Given the description of an element on the screen output the (x, y) to click on. 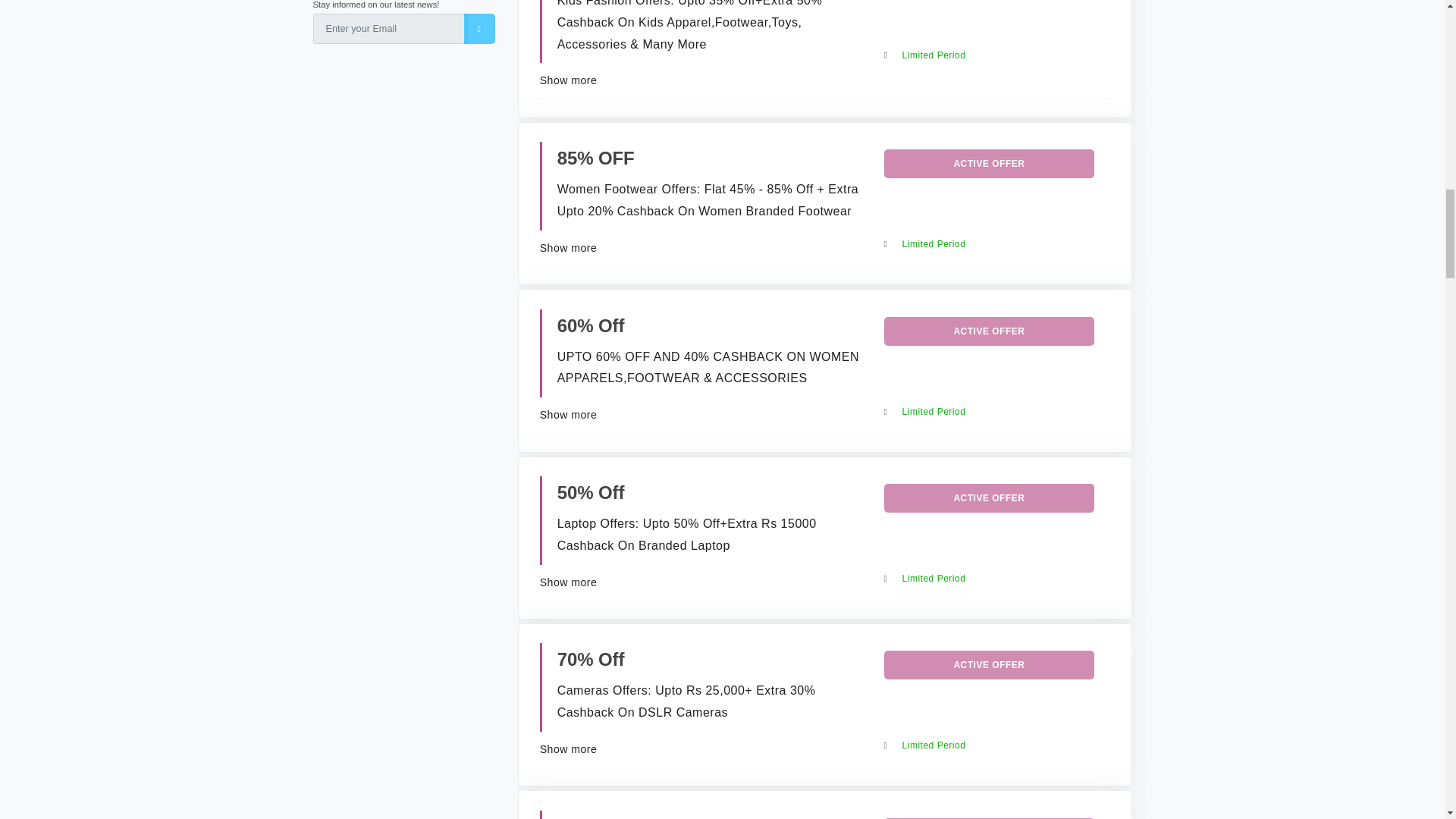
1 ONLY (589, 817)
ACTIVE OFFER (988, 664)
ACTIVE OFFER (988, 163)
ACTIVE OFFER (988, 330)
ACTIVE OFFER (988, 498)
